Given the description of an element on the screen output the (x, y) to click on. 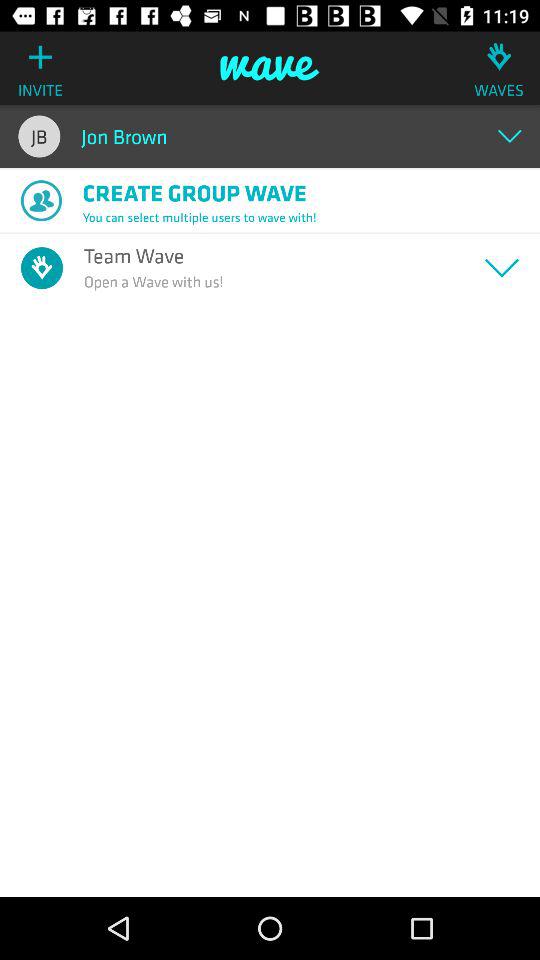
click the icon to the left of waves item (269, 68)
